Given the description of an element on the screen output the (x, y) to click on. 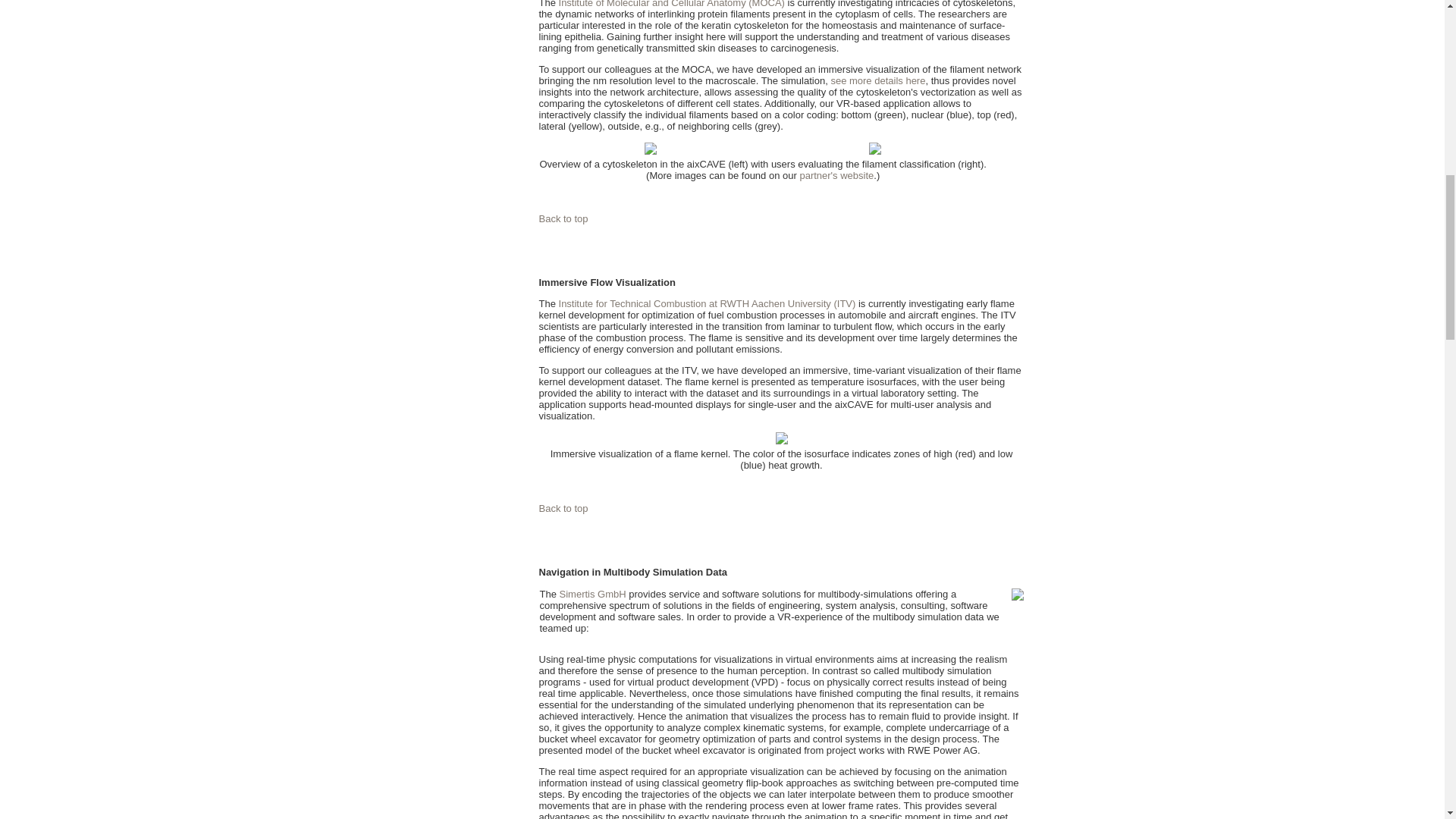
Simertis GmbH (592, 593)
Back to top (563, 508)
Back to top (563, 218)
see more details here (876, 80)
partner's website (836, 174)
